Given the description of an element on the screen output the (x, y) to click on. 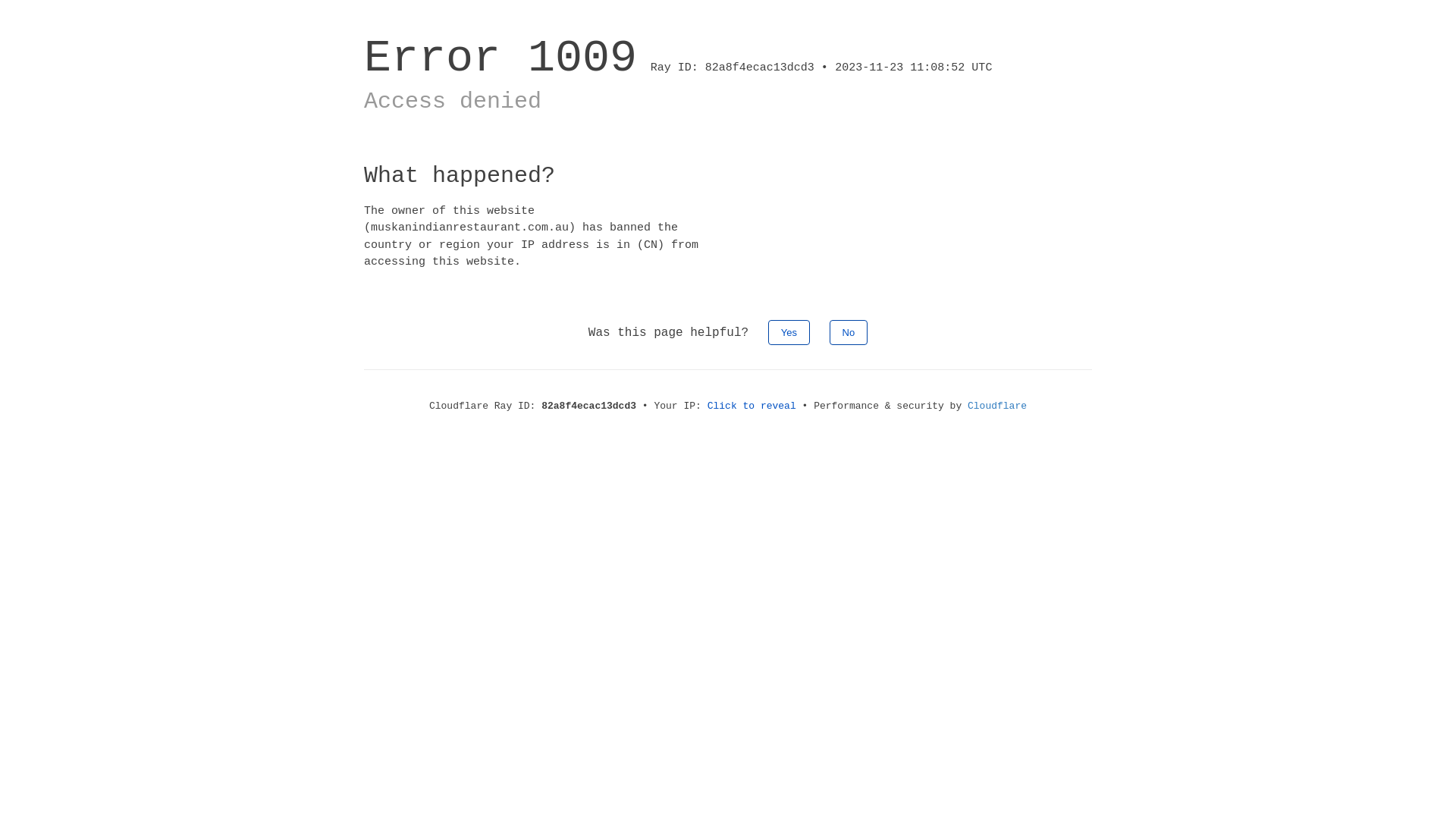
Yes Element type: text (788, 332)
No Element type: text (848, 332)
Click to reveal Element type: text (751, 405)
Cloudflare Element type: text (996, 405)
